Given the description of an element on the screen output the (x, y) to click on. 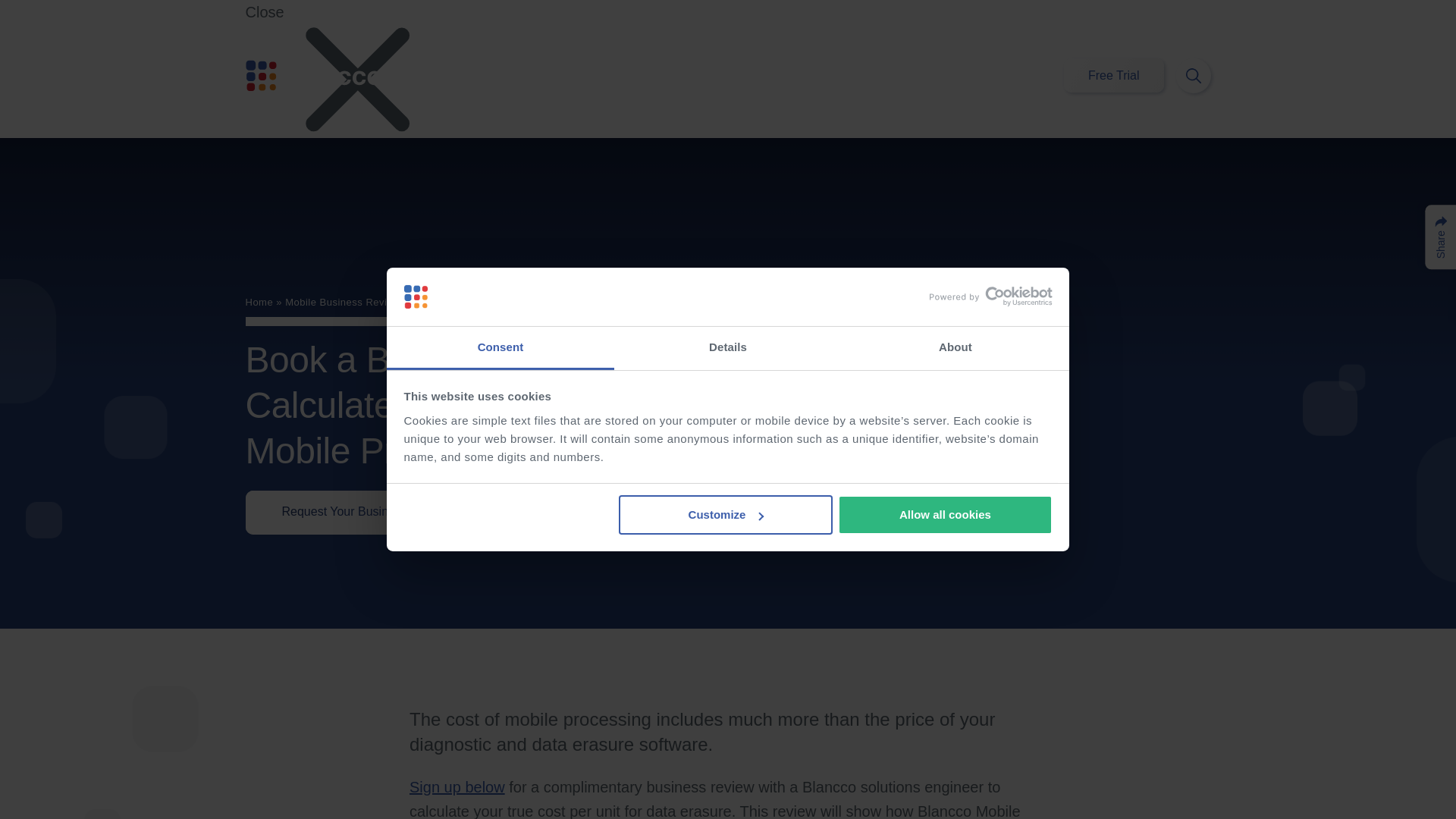
Details (727, 348)
About (954, 348)
Consent (500, 348)
